Given the description of an element on the screen output the (x, y) to click on. 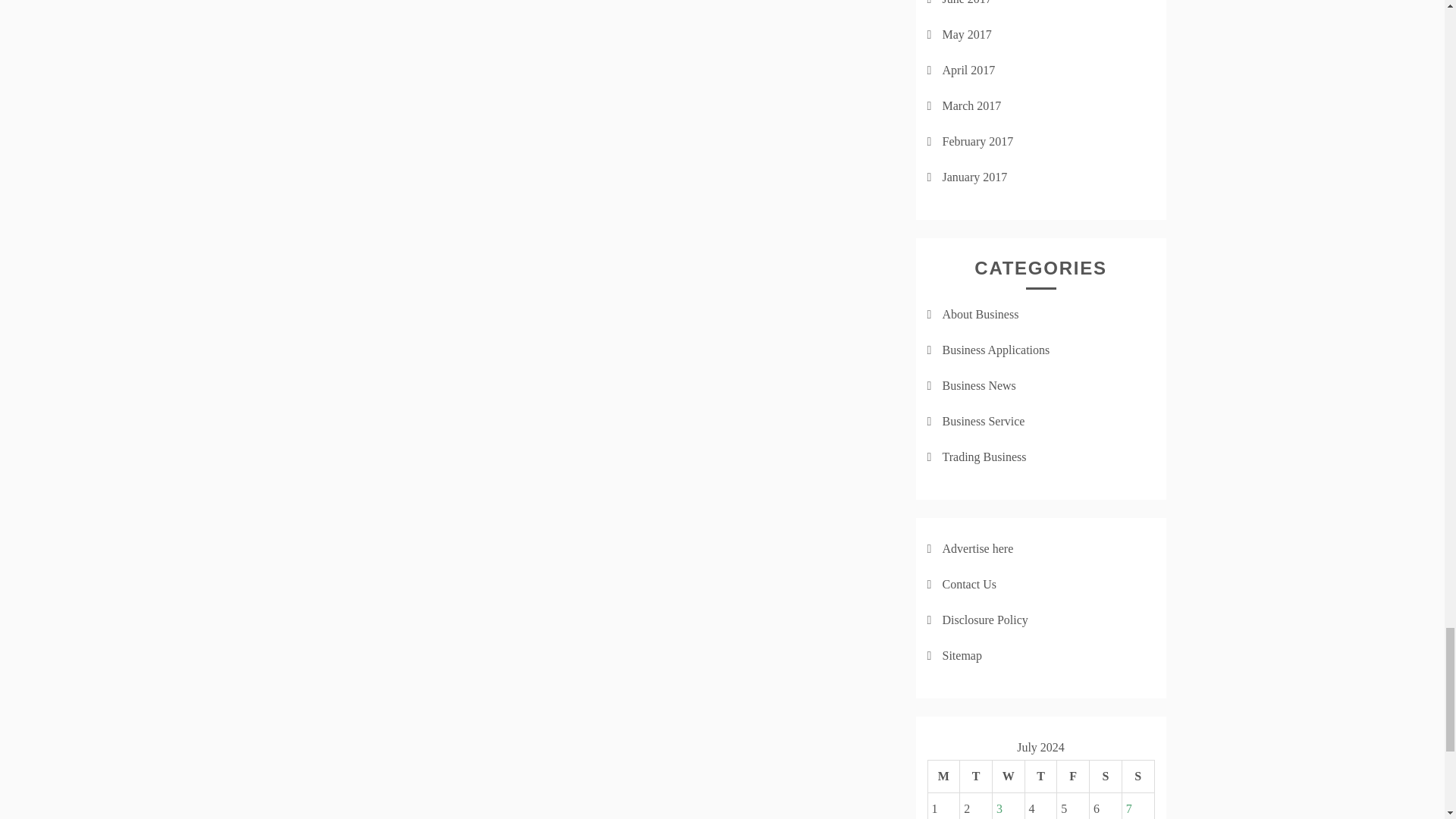
Friday (1073, 776)
Sunday (1137, 776)
Saturday (1105, 776)
Monday (943, 776)
Thursday (1041, 776)
Tuesday (975, 776)
Wednesday (1008, 776)
